Given the description of an element on the screen output the (x, y) to click on. 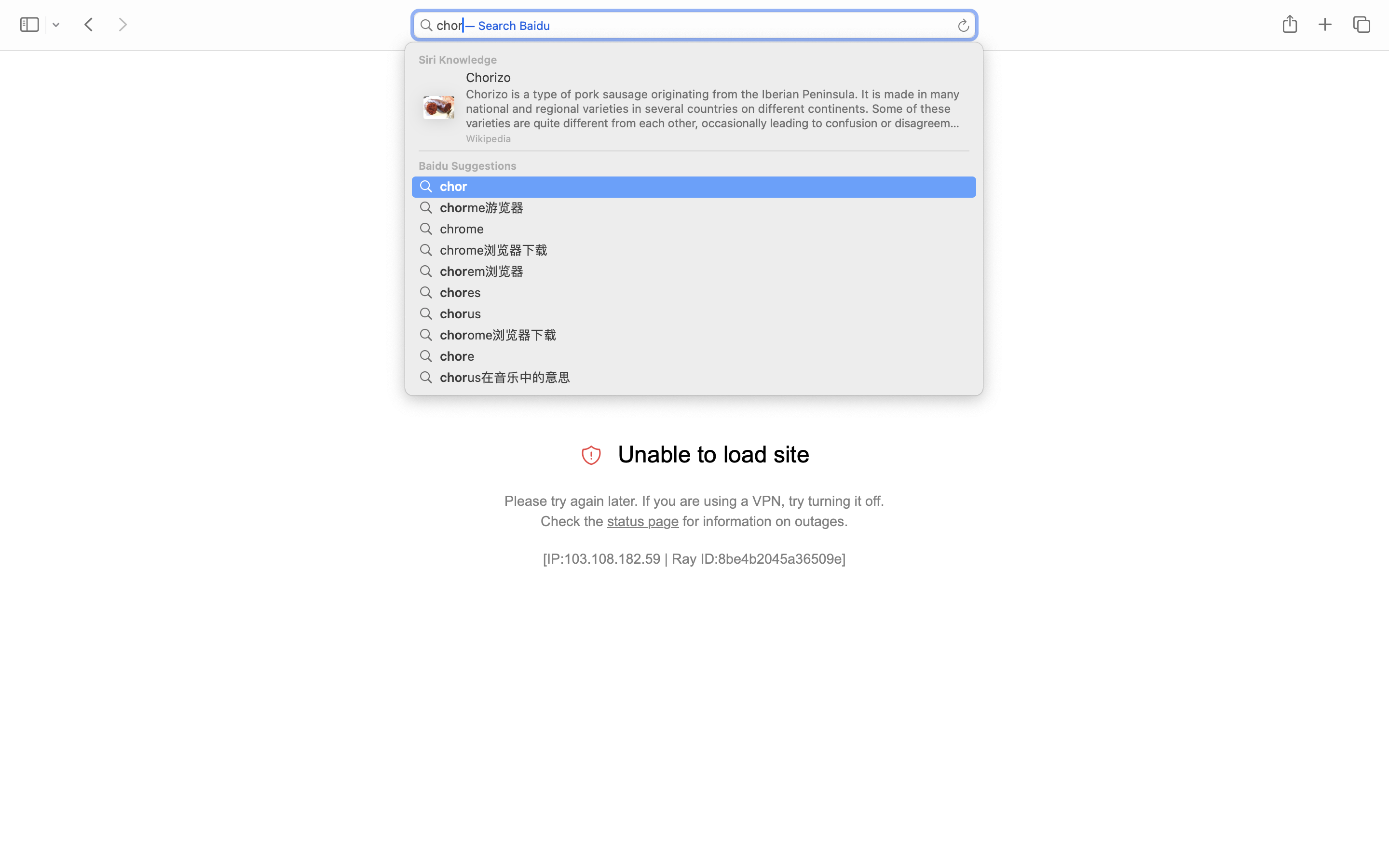
Please try again later. If you are using a VPN, try turning it off. Check the Element type: AXStaticText (694, 510)
